Given the description of an element on the screen output the (x, y) to click on. 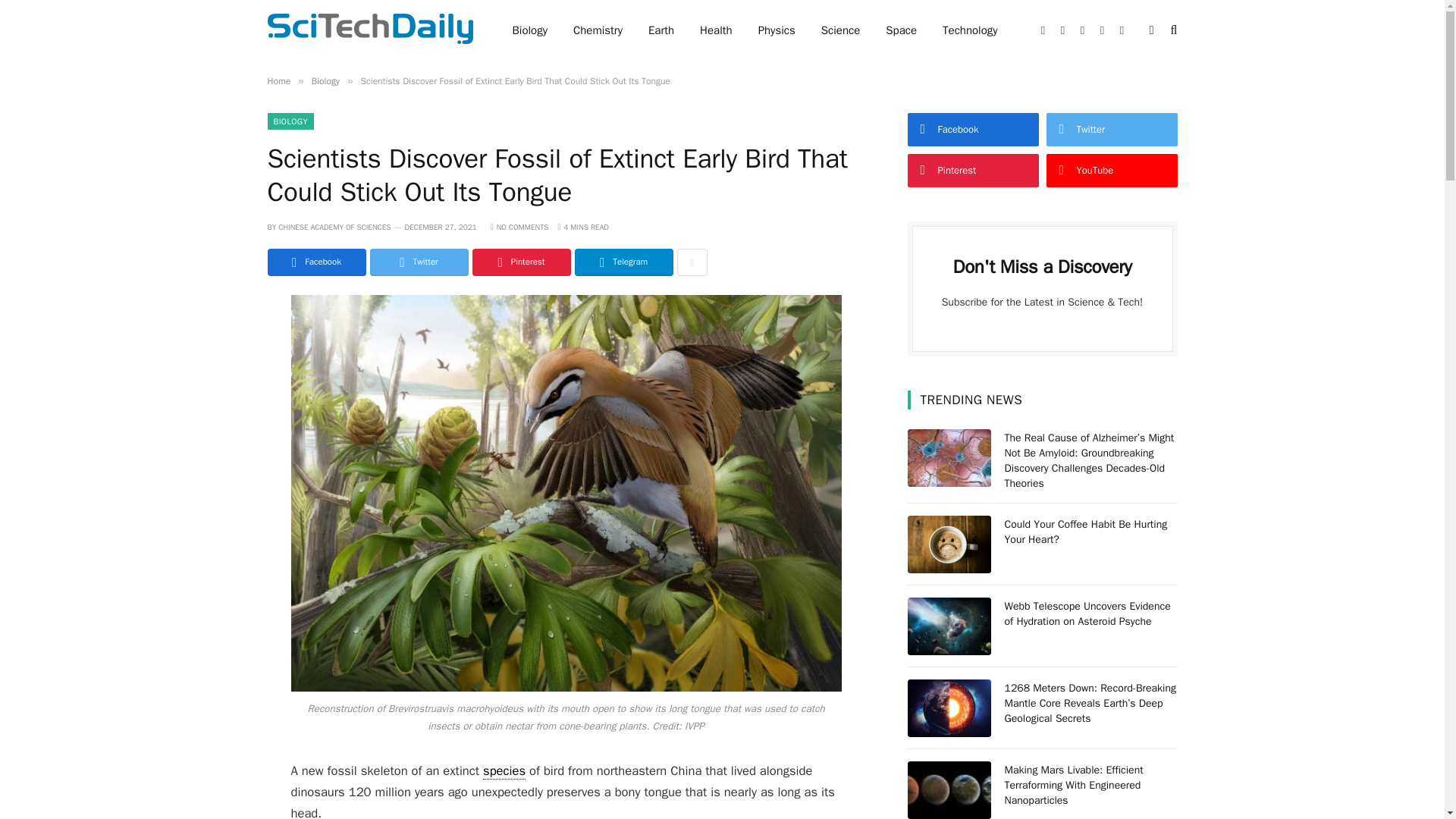
Share on Telegram (623, 262)
Technology (970, 30)
Share on Facebook (315, 262)
SciTechDaily (368, 30)
Telegram (623, 262)
Physics (776, 30)
Share on Pinterest (520, 262)
Facebook (315, 262)
Space (901, 30)
NO COMMENTS (519, 226)
